Given the description of an element on the screen output the (x, y) to click on. 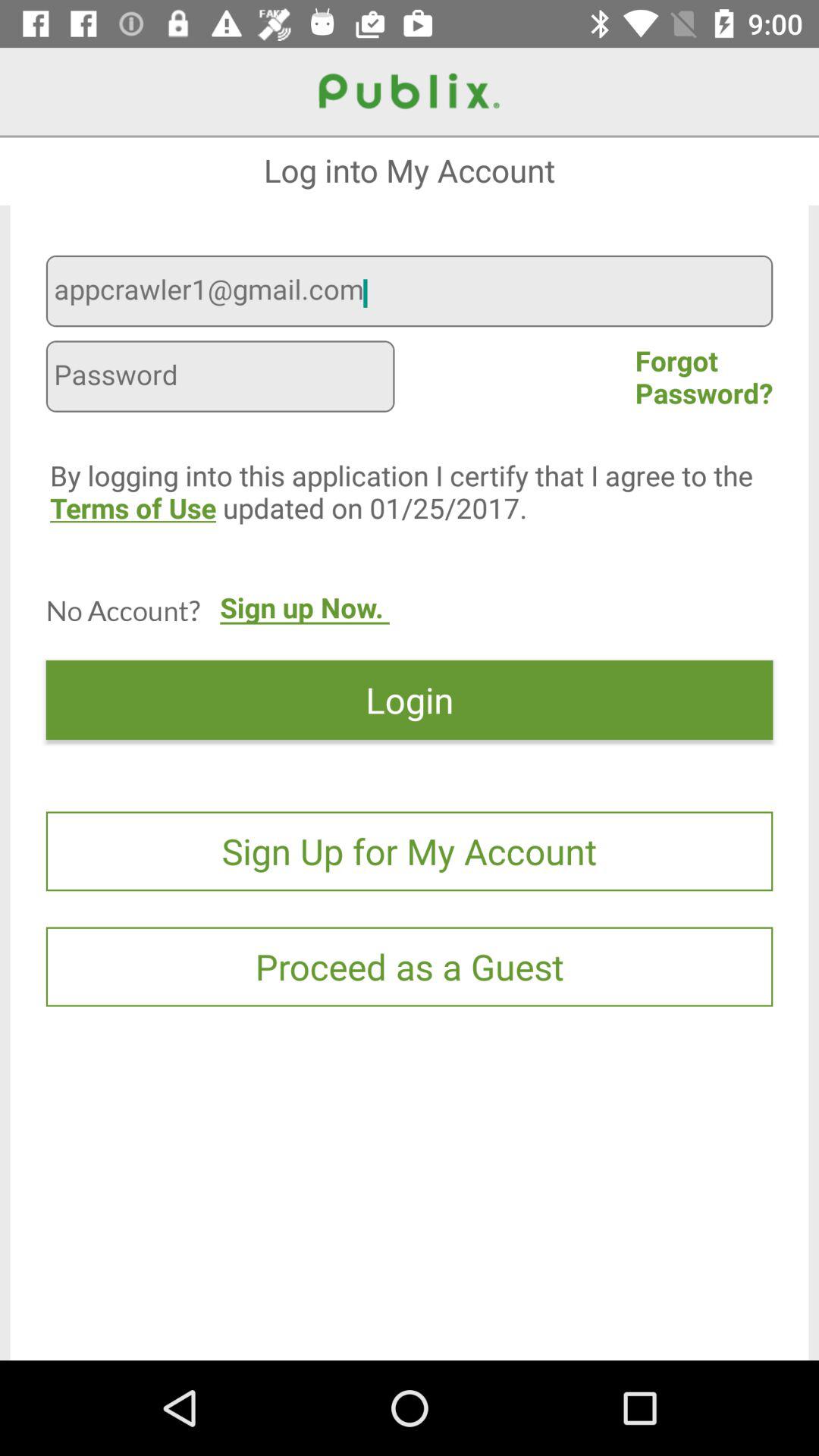
tap appcrawler1@gmail.com (409, 293)
